Given the description of an element on the screen output the (x, y) to click on. 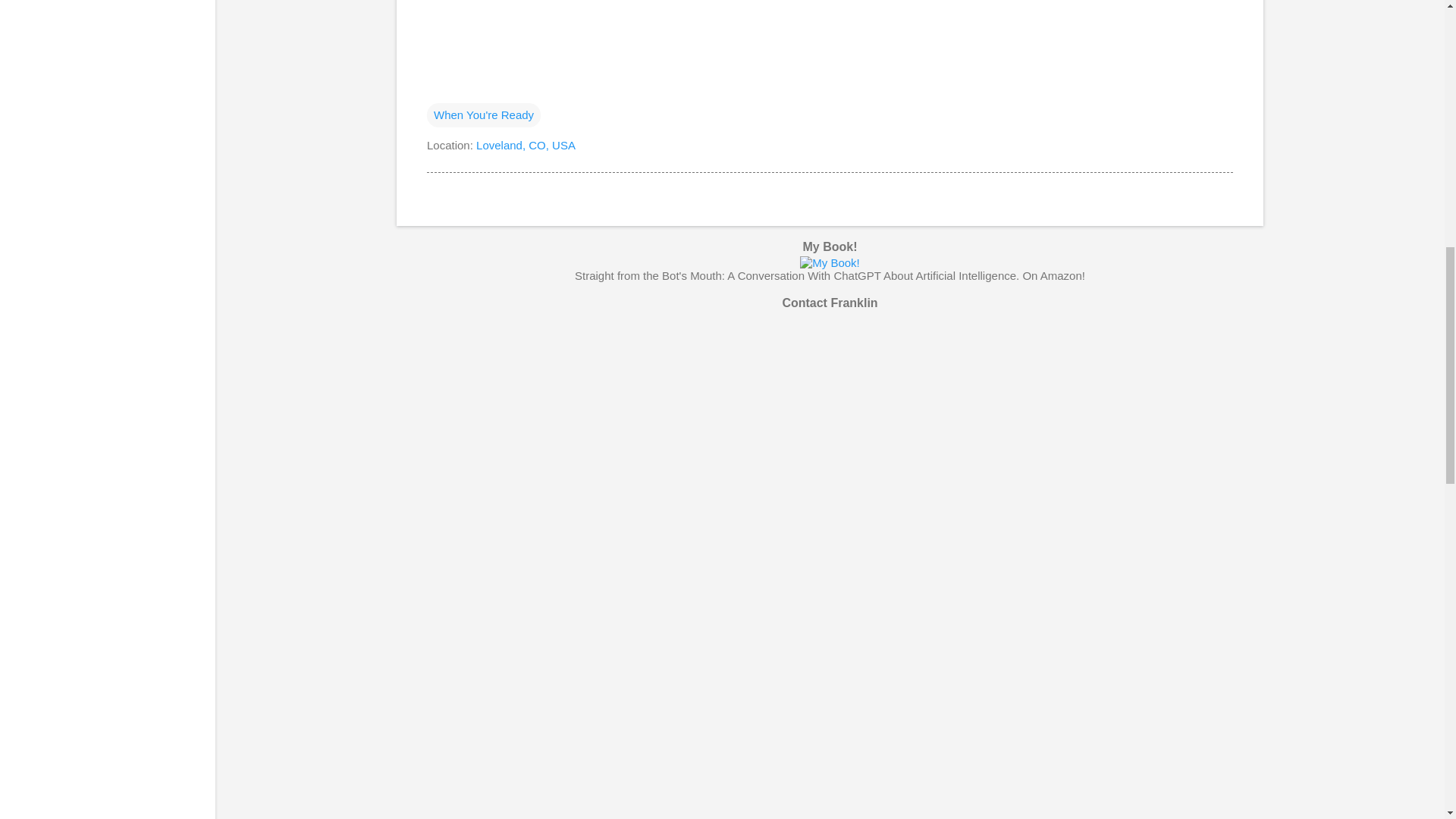
Loveland, CO, USA (525, 144)
When You're Ready (483, 115)
